Given the description of an element on the screen output the (x, y) to click on. 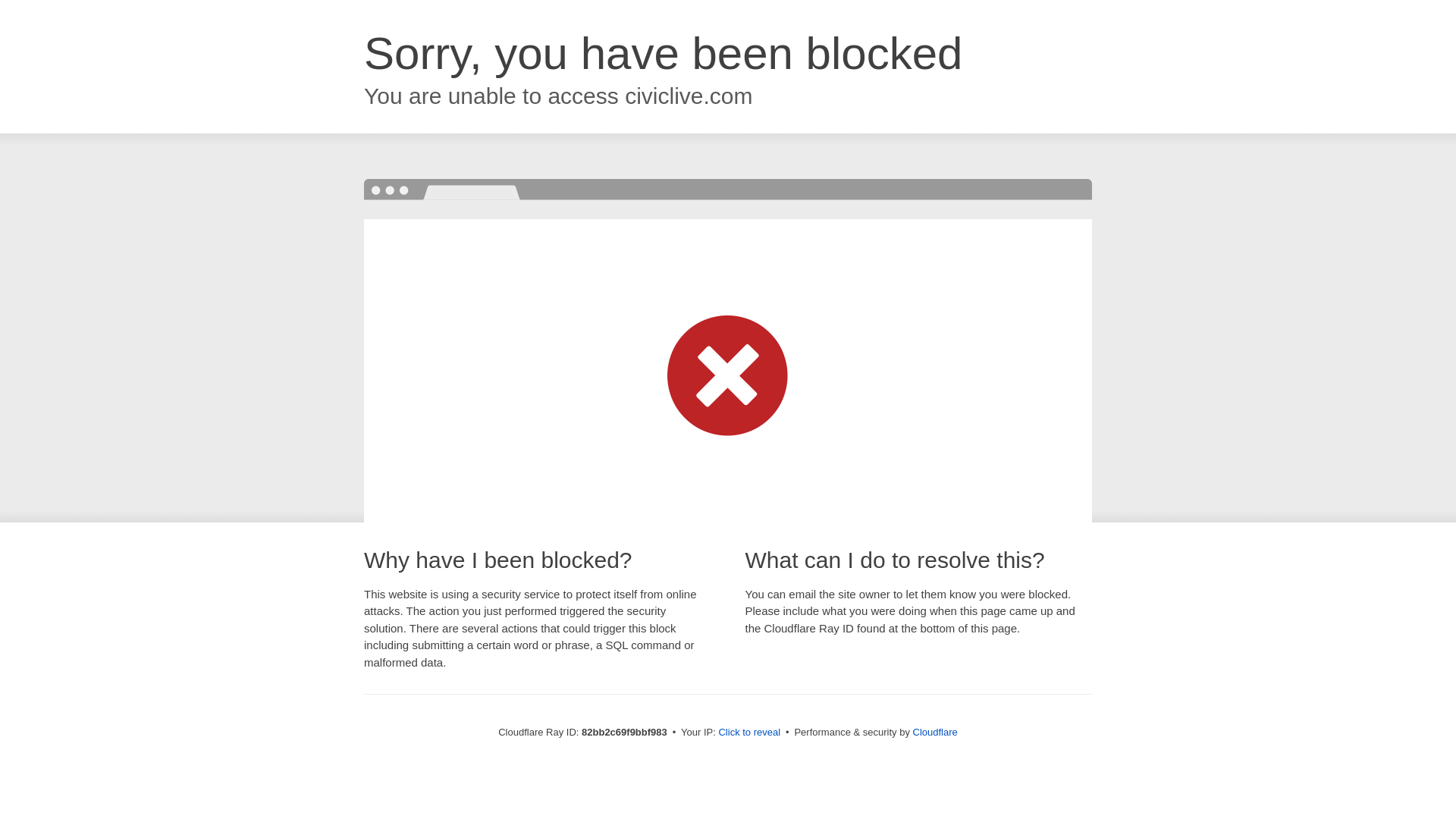
Click to reveal Element type: text (749, 732)
Cloudflare Element type: text (935, 731)
